Given the description of an element on the screen output the (x, y) to click on. 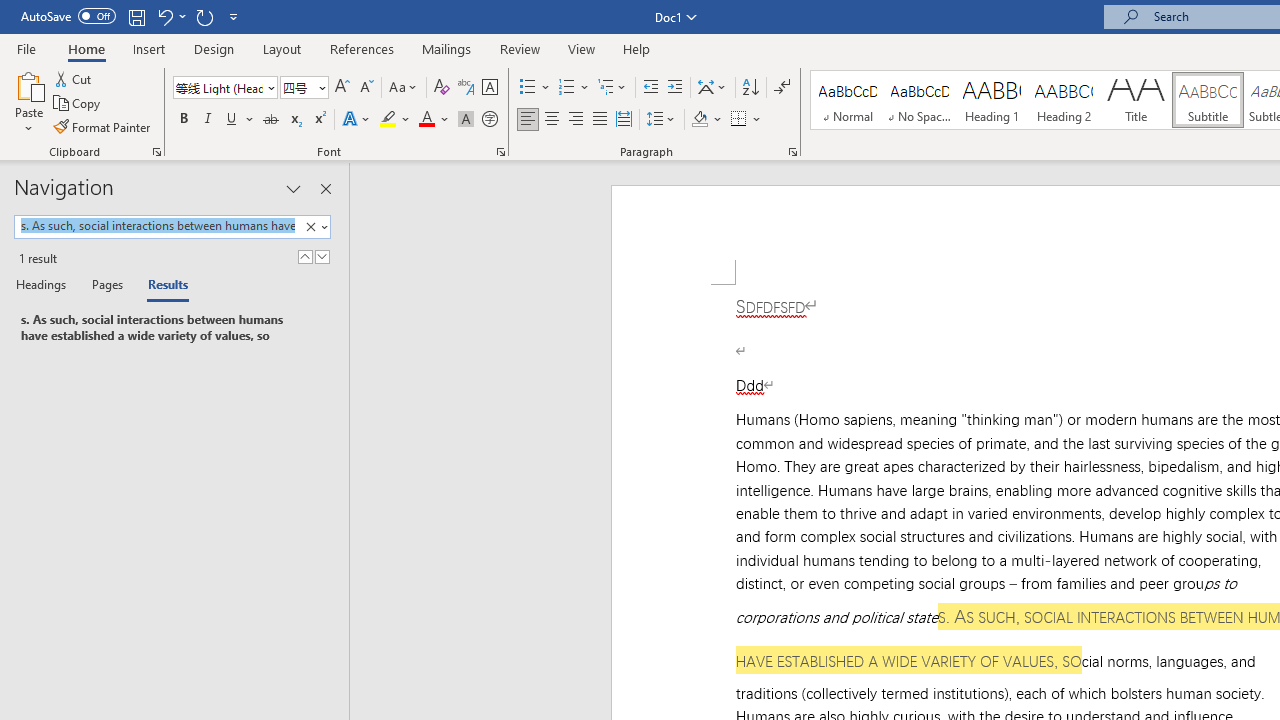
Next Result (322, 256)
Undo Style (164, 15)
